Given the description of an element on the screen output the (x, y) to click on. 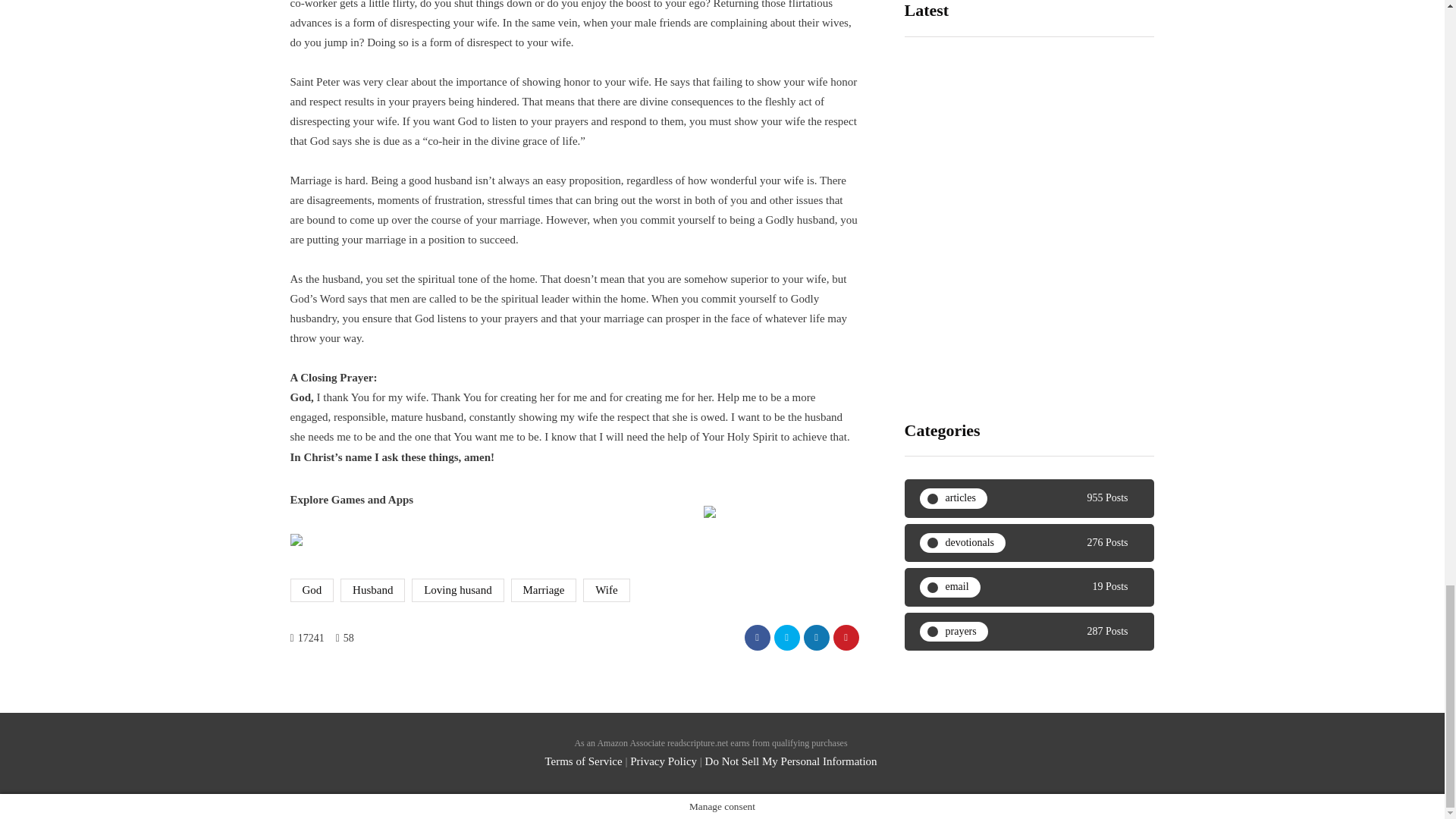
Loving husand (457, 589)
Marriage (543, 589)
Husband (372, 589)
Share with LinkedIn (816, 637)
Pin this (845, 637)
Wife (605, 589)
Share with Facebook (757, 637)
God (311, 589)
Tweet this (786, 637)
